Given the description of an element on the screen output the (x, y) to click on. 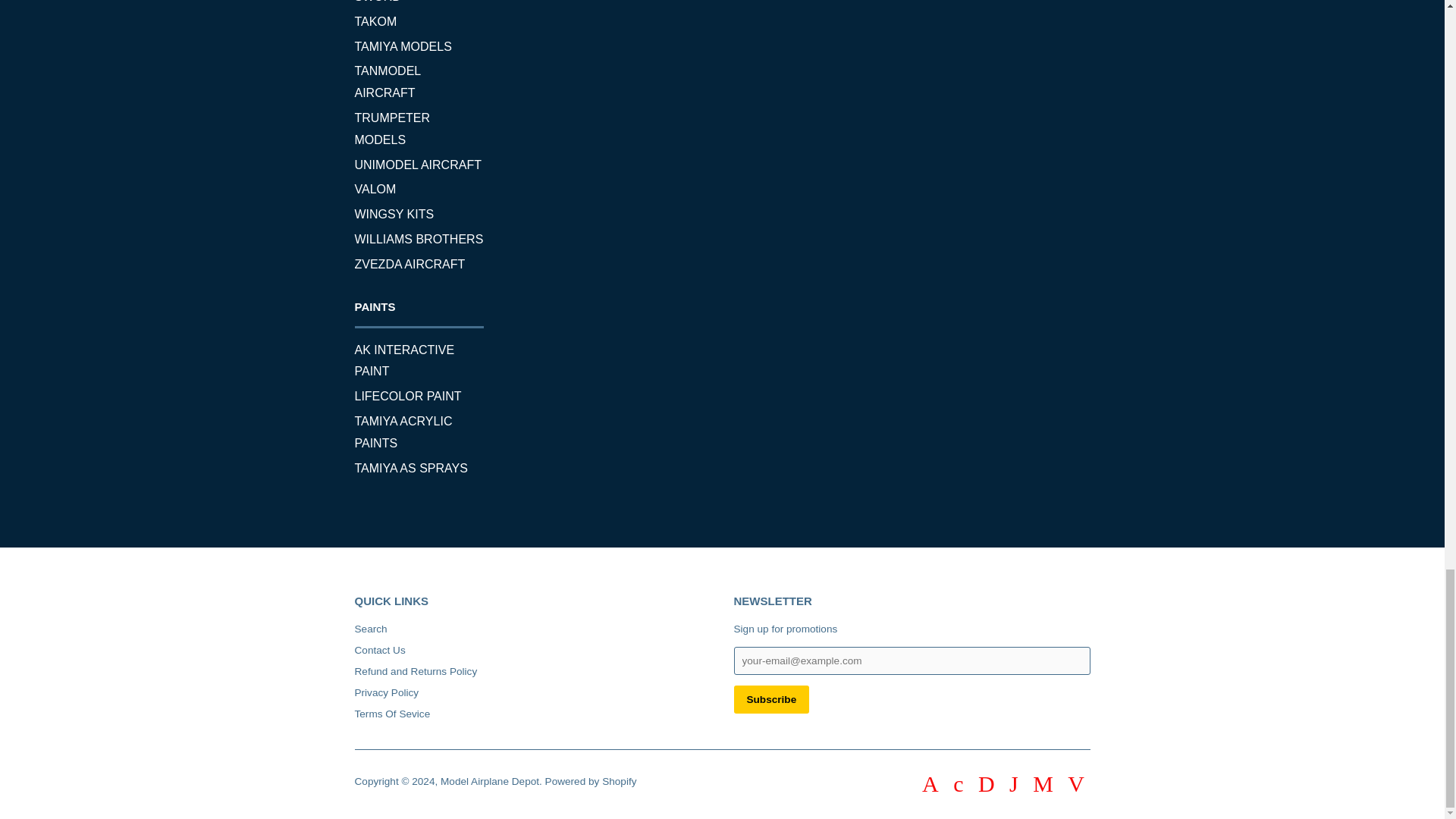
Subscribe (771, 699)
